Given the description of an element on the screen output the (x, y) to click on. 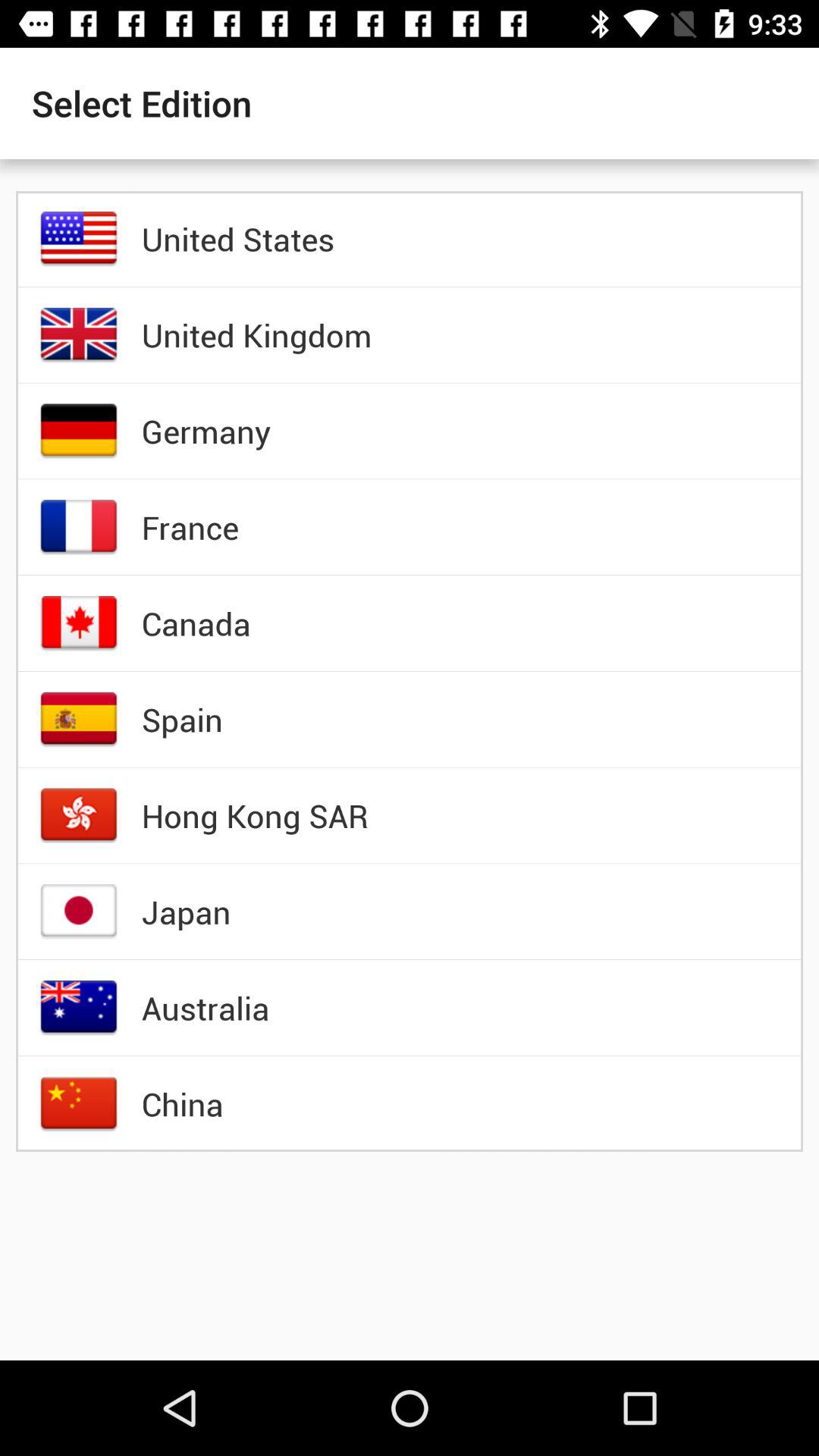
open item below the japan (205, 1007)
